Given the description of an element on the screen output the (x, y) to click on. 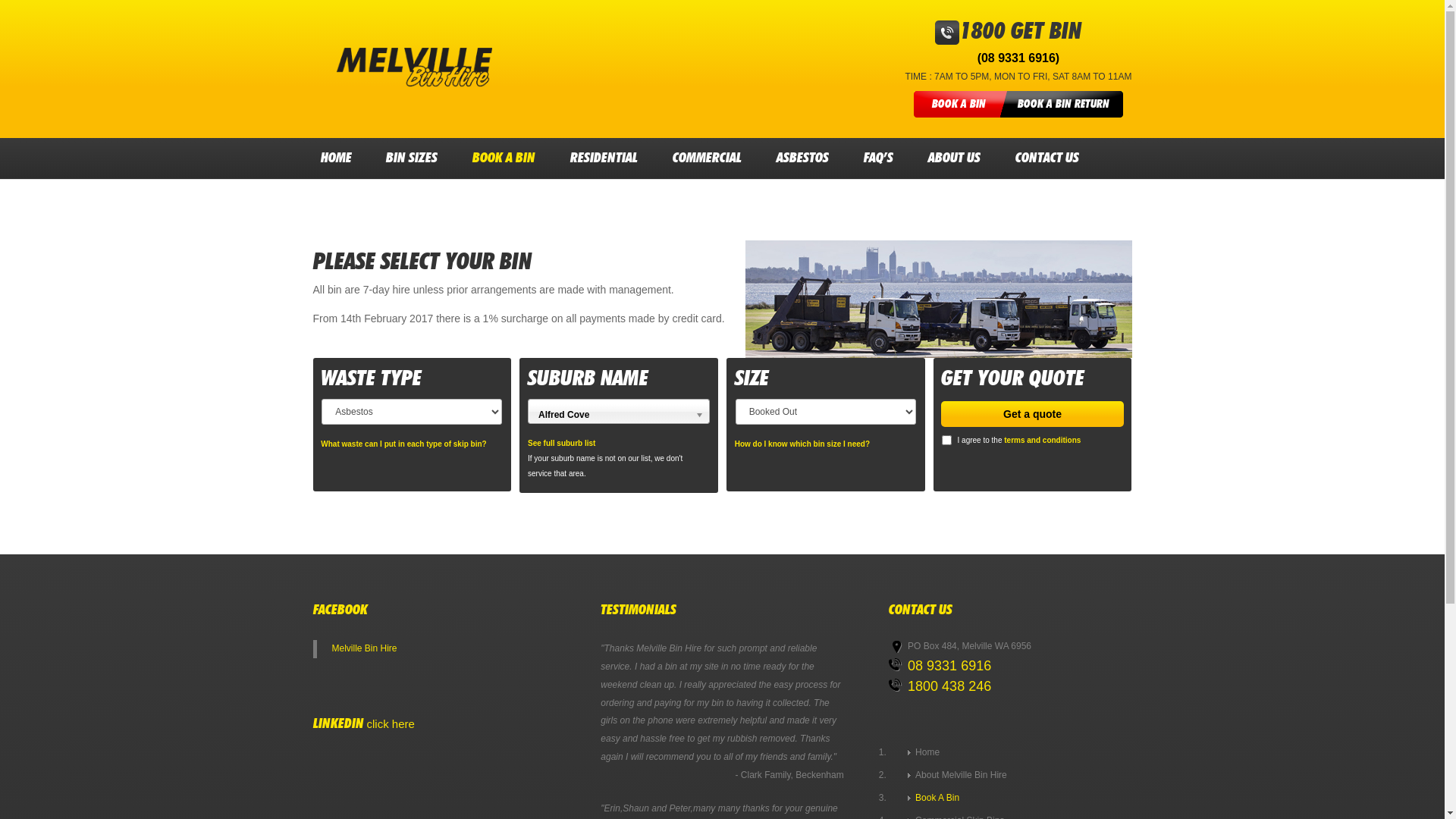
1800 438 246 Element type: text (949, 685)
What waste can I put in each type of skip bin? Element type: text (403, 443)
(08 9331 6916) Element type: text (1018, 57)
ABOUT US Element type: text (954, 158)
Get a quote Element type: text (1032, 413)
1800 GET BIN Element type: text (1021, 31)
See full suburb list Element type: text (561, 443)
CONTACT US Element type: text (1046, 158)
terms and conditions Element type: text (1042, 440)
Home Element type: text (923, 751)
RESIDENTIAL Element type: text (603, 158)
08 9331 6916 Element type: text (949, 665)
HOME Element type: text (335, 158)
Alfred Cove Element type: text (618, 410)
ASBESTOS Element type: text (802, 158)
About Melville Bin Hire Element type: text (957, 774)
Book A Bin Element type: text (933, 797)
How do I know which bin size I need? Element type: text (801, 443)
BOOK A BIN Element type: text (503, 158)
BIN SIZES Element type: text (411, 158)
click here Element type: text (390, 723)
Melville Bin Hire Element type: text (364, 648)
BOOK A BIN RETURN Element type: text (1063, 103)
COMMERCIAL Element type: text (707, 158)
BOOK A BIN Element type: text (958, 103)
